Given the description of an element on the screen output the (x, y) to click on. 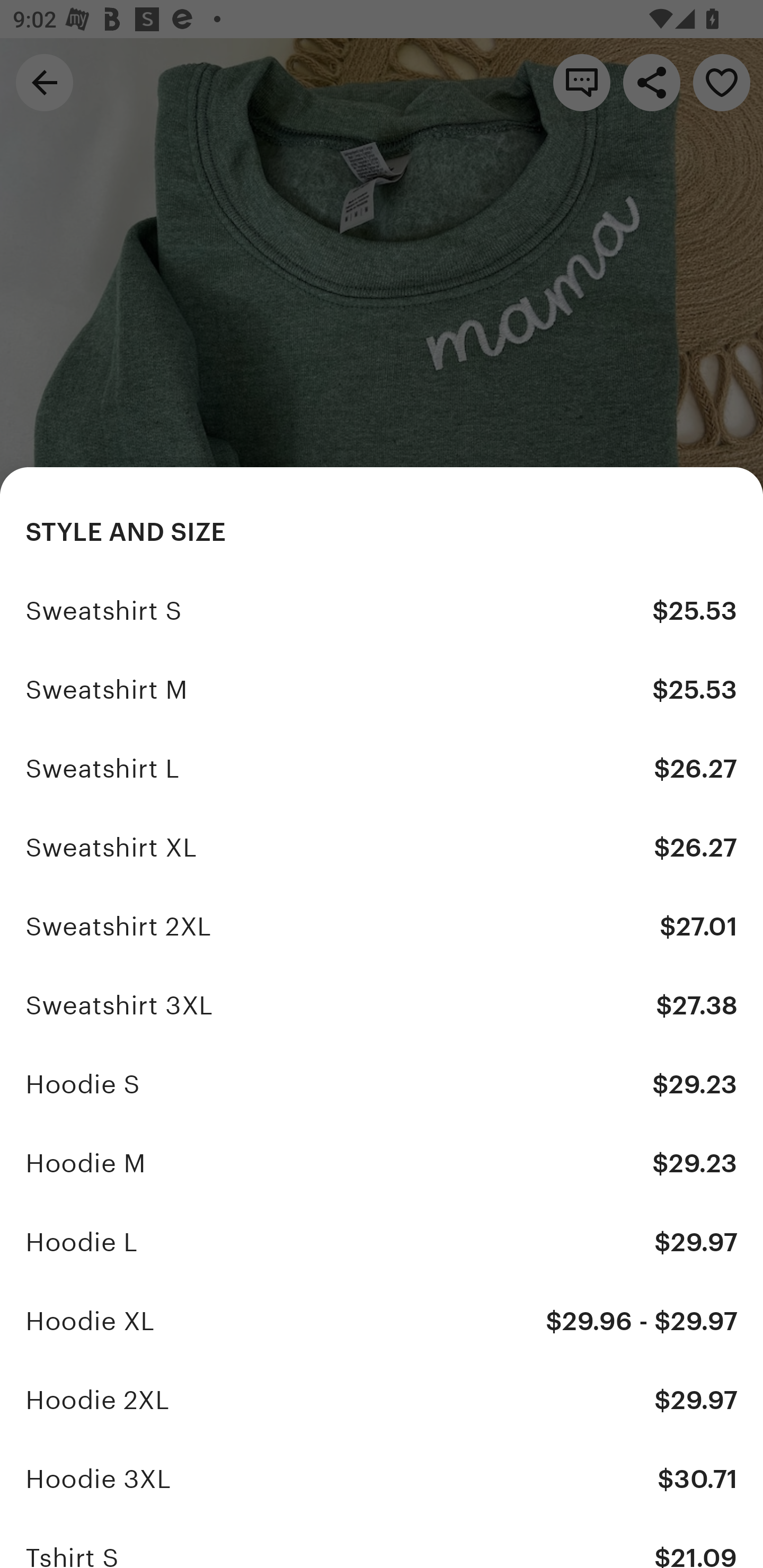
Sweatshirt S $25.53 (381, 611)
Sweatshirt M $25.53 (381, 689)
Sweatshirt L $26.27 (381, 769)
Sweatshirt XL $26.27 (381, 848)
Sweatshirt 2XL $27.01 (381, 926)
Sweatshirt 3XL $27.38 (381, 1005)
Hoodie S $29.23 (381, 1084)
Hoodie M $29.23 (381, 1163)
Hoodie L $29.97 (381, 1242)
Hoodie XL $29.96 - $29.97 (381, 1321)
Hoodie 2XL $29.97 (381, 1400)
Hoodie 3XL $30.71 (381, 1479)
Tshirt S $21.09 (381, 1543)
